Given the description of an element on the screen output the (x, y) to click on. 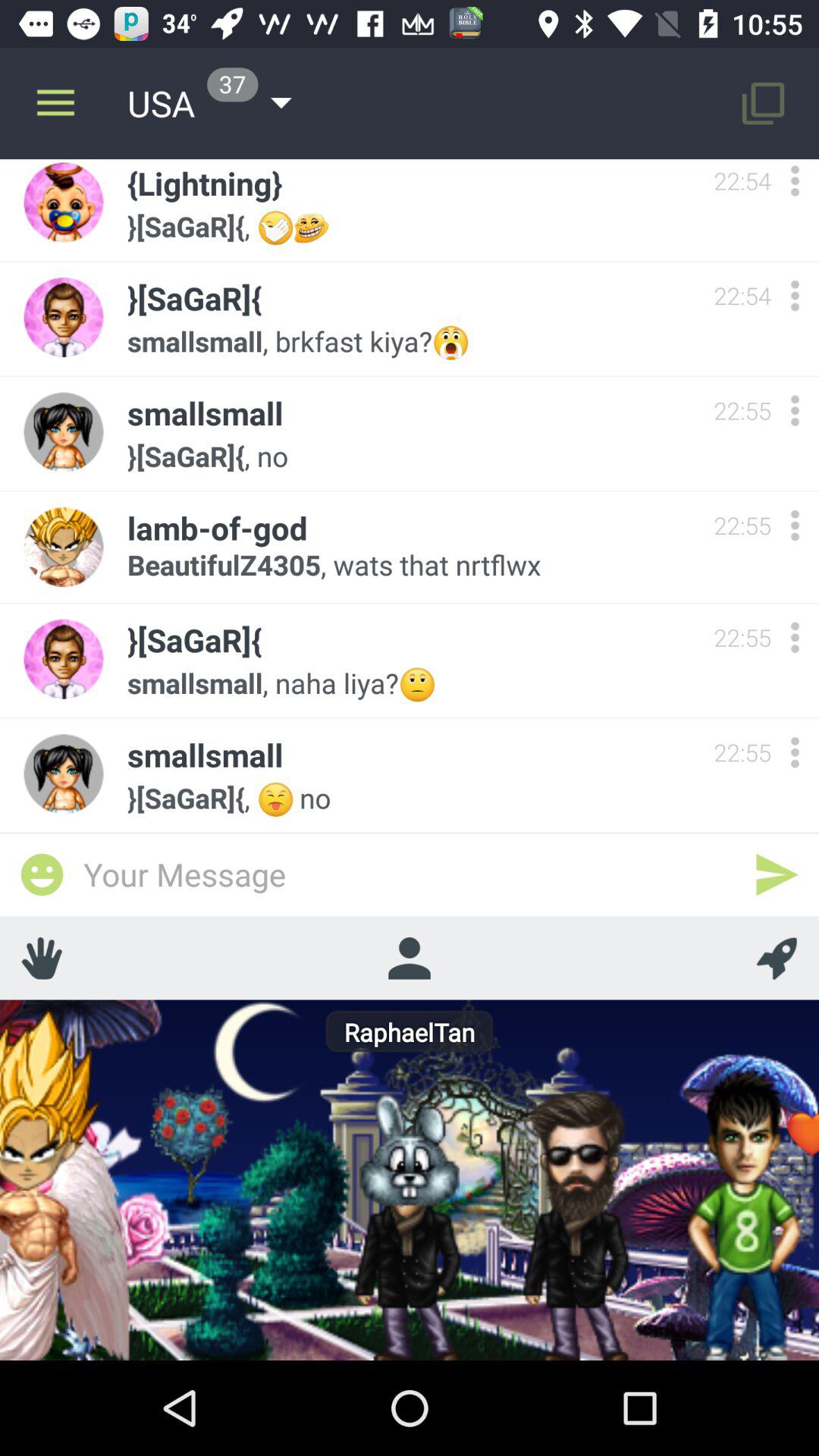
open friend list (409, 957)
